Given the description of an element on the screen output the (x, y) to click on. 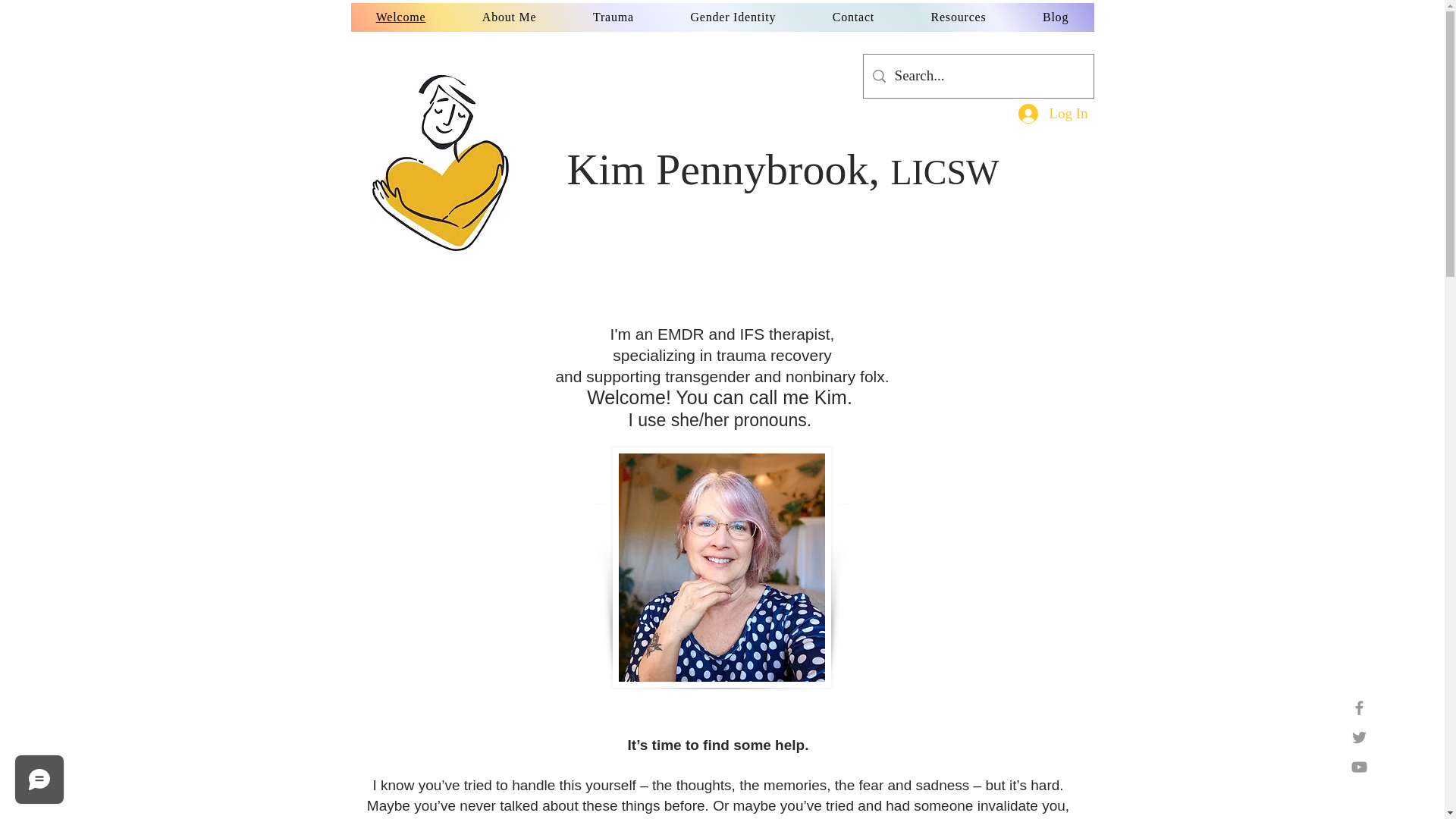
Blog (1055, 17)
Gender Identity (732, 17)
Wix Chat (35, 783)
Contact (852, 17)
Trauma (613, 17)
Resources (957, 17)
About Me (509, 17)
Welcome (399, 17)
Log In (1052, 113)
